Given the description of an element on the screen output the (x, y) to click on. 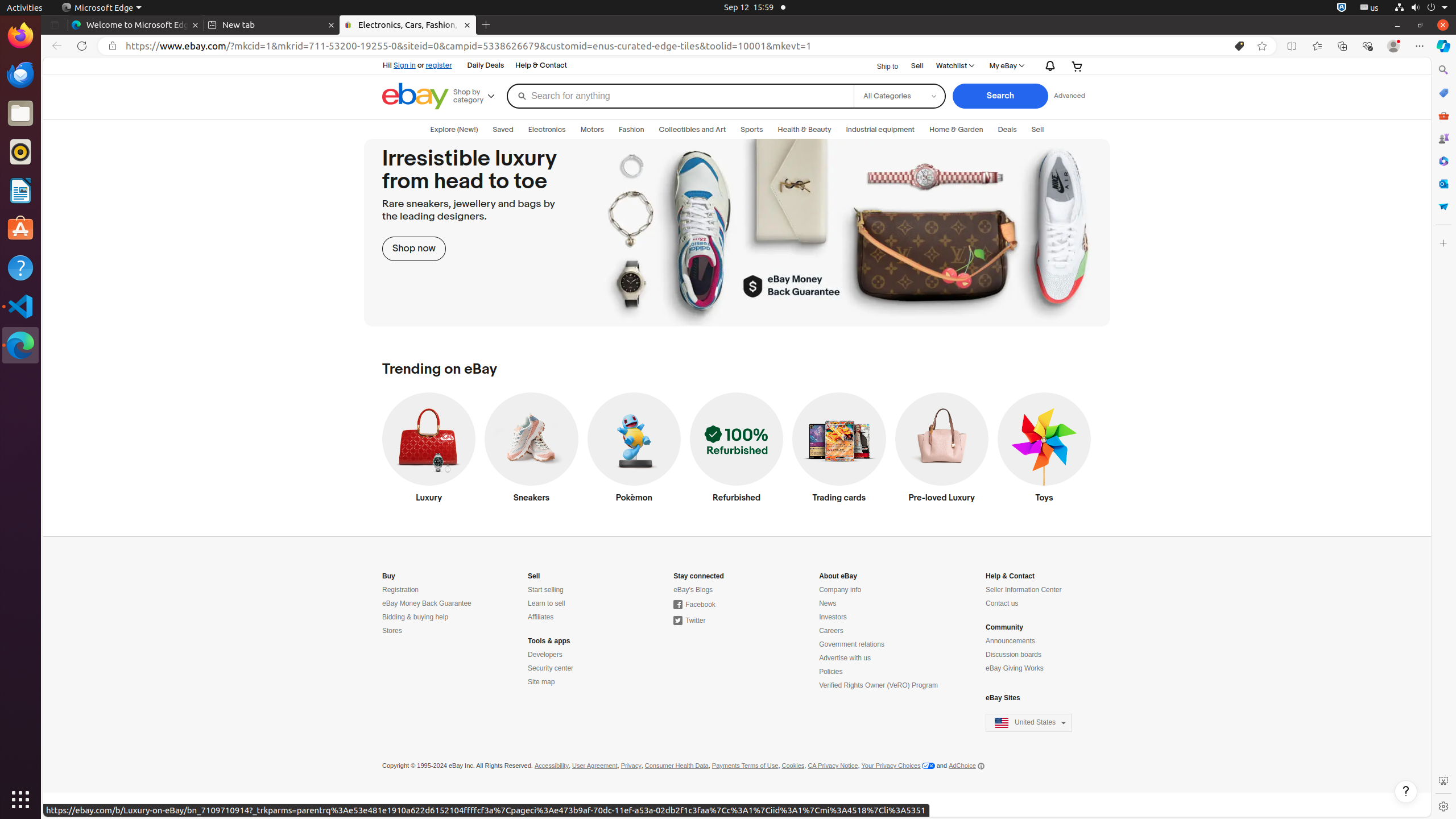
Microsoft 365 Element type: push-button (1443, 160)
eBay's Blogs Element type: link (693, 589)
Browser essentials Element type: push-button (1366, 45)
Rhythmbox Element type: push-button (20, 151)
eBay Home Element type: link (415, 95)
